Given the description of an element on the screen output the (x, y) to click on. 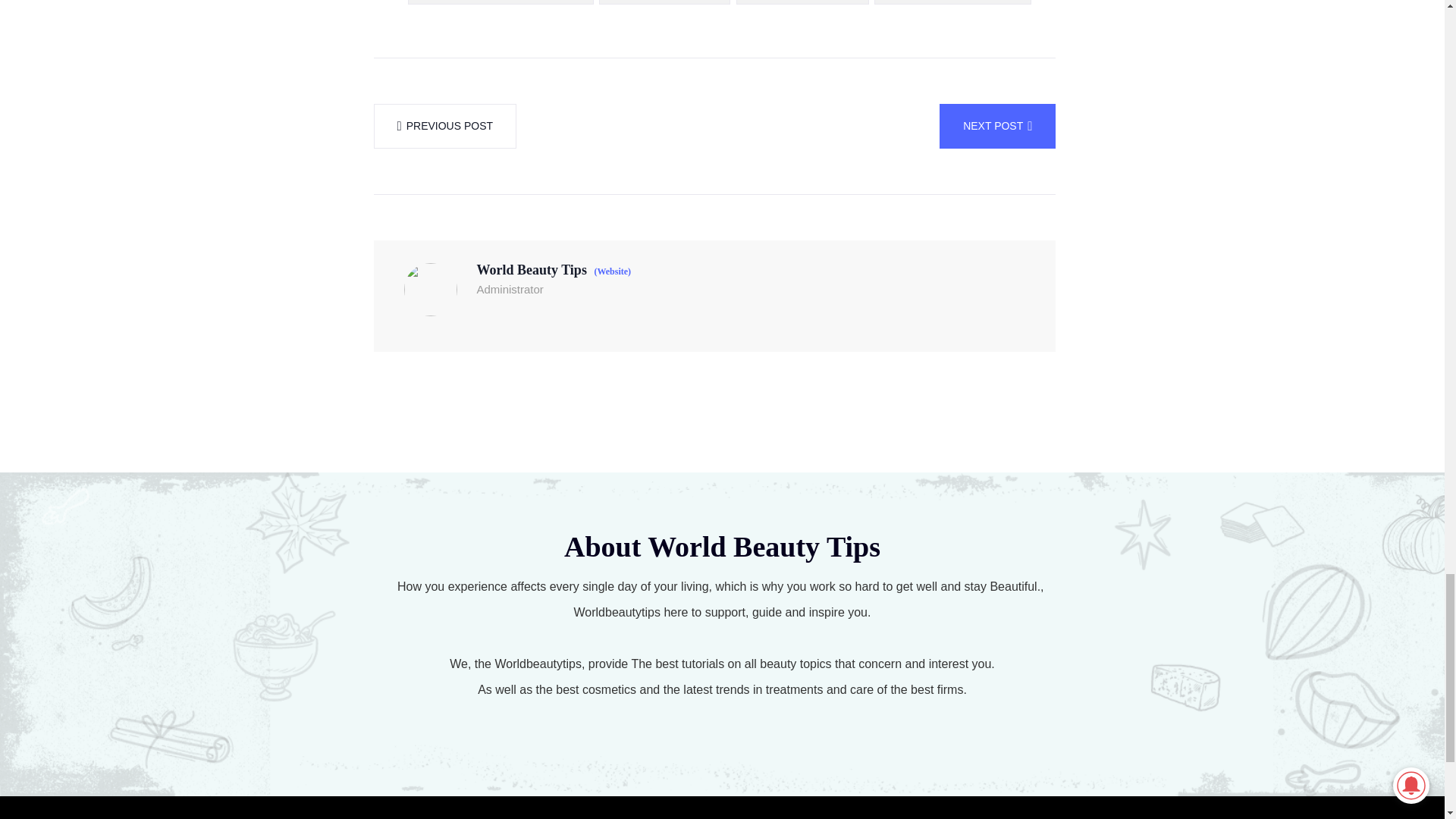
How to Care for your Kabuki Brush (499, 2)
What is Round Kabuki Brush (952, 2)
What is Flat Top Kabuki (802, 2)
What is a Kabuki Brush (664, 2)
